Given the description of an element on the screen output the (x, y) to click on. 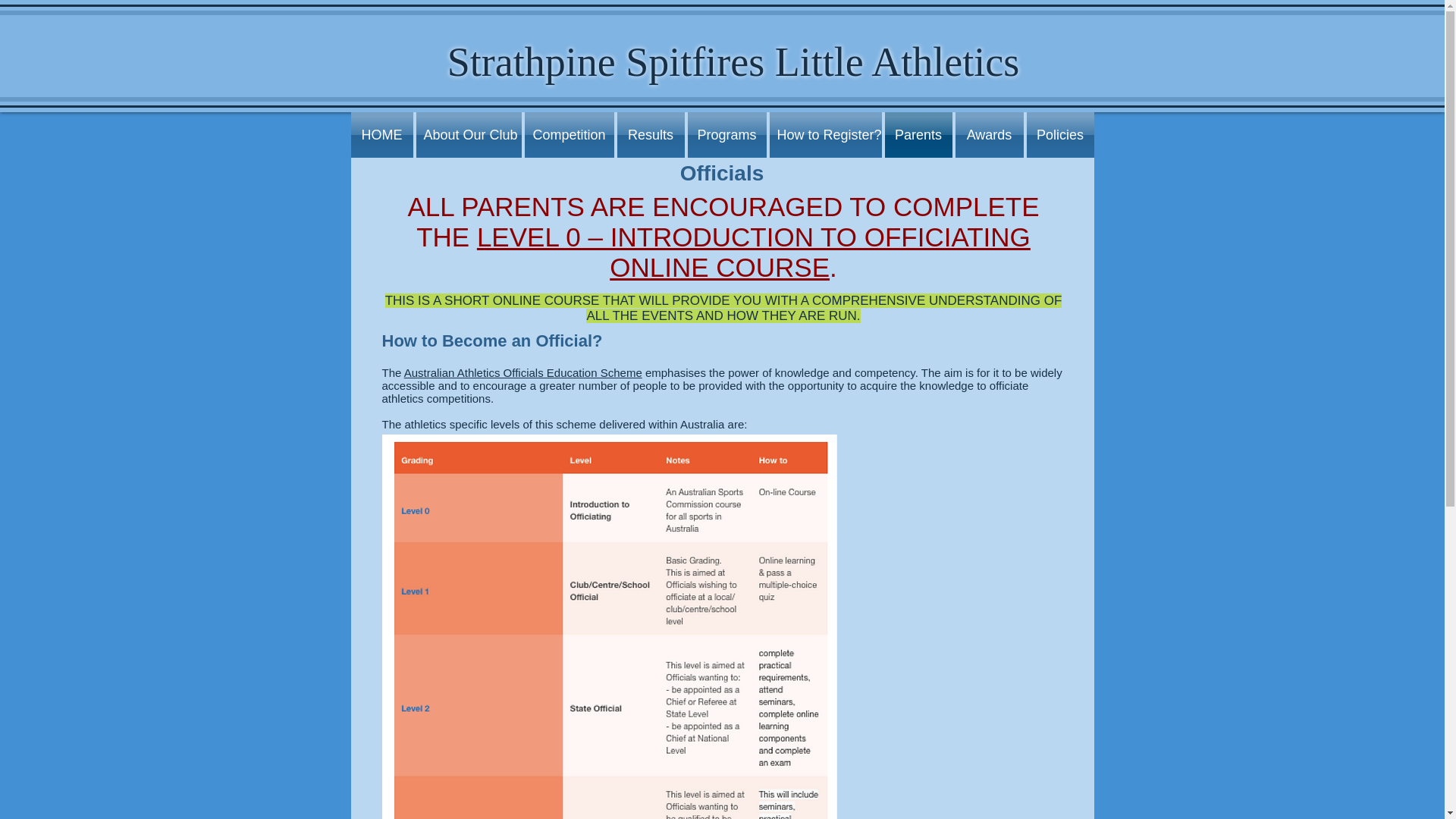
Australian Athletics Officials Education Scheme (523, 372)
Policies (1059, 135)
How to Register? (824, 135)
Results (650, 135)
Parents (917, 135)
Awards (989, 135)
Programs (726, 135)
Competition (568, 135)
About Our Club (467, 135)
HOME (381, 135)
